Given the description of an element on the screen output the (x, y) to click on. 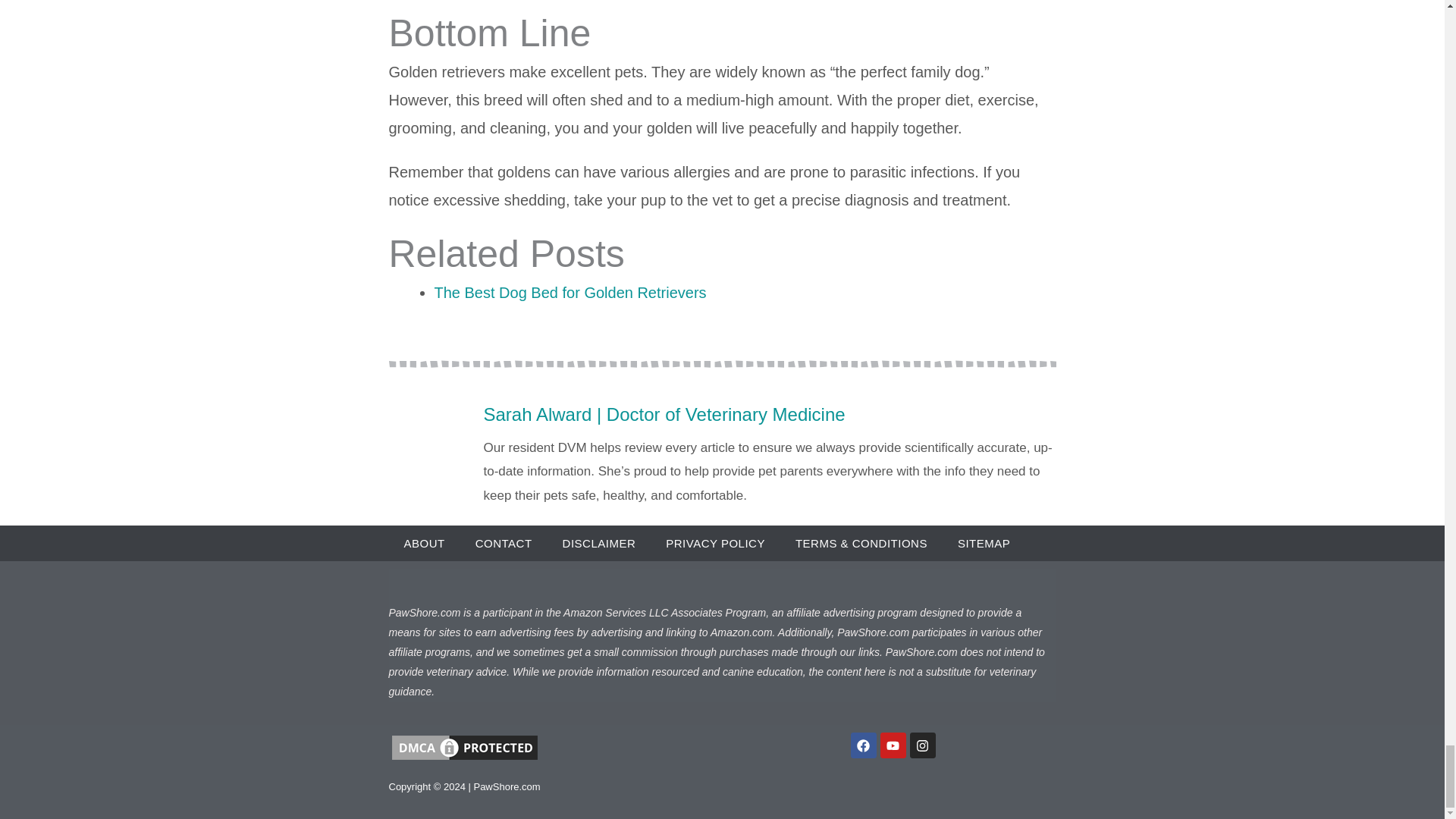
DMCA.com Protection Status (464, 747)
